Given the description of an element on the screen output the (x, y) to click on. 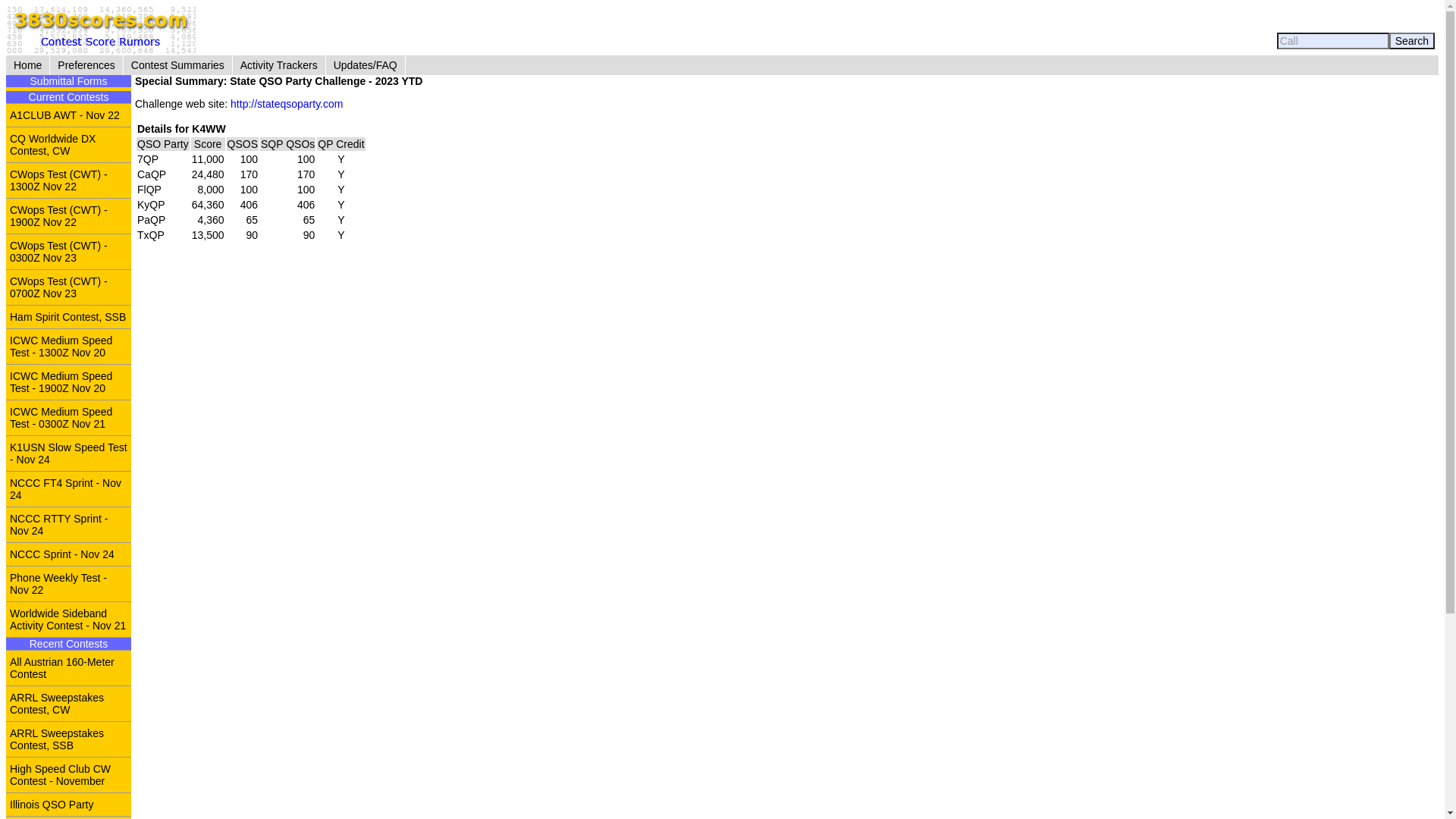
Home Element type: text (27, 65)
ICWC Medium Speed Test - 1900Z Nov 20 Element type: text (68, 381)
NCCC RTTY Sprint - Nov 24 Element type: text (68, 524)
K1USN Slow Speed Test - Nov 24 Element type: text (68, 452)
ARRL Sweepstakes Contest, SSB Element type: text (68, 738)
Phone Weekly Test - Nov 22 Element type: text (68, 583)
http://stateqsoparty.com Element type: text (286, 103)
CQ Worldwide DX Contest, CW Element type: text (68, 144)
NCCC Sprint - Nov 24 Element type: text (68, 553)
Contest Summaries Element type: text (177, 65)
CWops Test (CWT) - 0300Z Nov 23 Element type: text (68, 251)
Preferences Element type: text (86, 65)
ICWC Medium Speed Test - 0300Z Nov 21 Element type: text (68, 417)
Activity Trackers Element type: text (278, 65)
ICWC Medium Speed Test - 1300Z Nov 20 Element type: text (68, 346)
All Austrian 160-Meter Contest Element type: text (68, 667)
Updates/FAQ Element type: text (365, 65)
A1CLUB AWT - Nov 22 Element type: text (68, 114)
Worldwide Sideband Activity Contest - Nov 21 Element type: text (68, 619)
ARRL Sweepstakes Contest, CW Element type: text (68, 703)
Illinois QSO Party Element type: text (68, 803)
NCCC FT4 Sprint - Nov 24 Element type: text (68, 488)
High Speed Club CW Contest - November Element type: text (68, 774)
CWops Test (CWT) - 1900Z Nov 22 Element type: text (68, 215)
Ham Spirit Contest, SSB Element type: text (68, 316)
CWops Test (CWT) - 0700Z Nov 23 Element type: text (68, 286)
Search Element type: text (1411, 40)
CWops Test (CWT) - 1300Z Nov 22 Element type: text (68, 179)
